Given the description of an element on the screen output the (x, y) to click on. 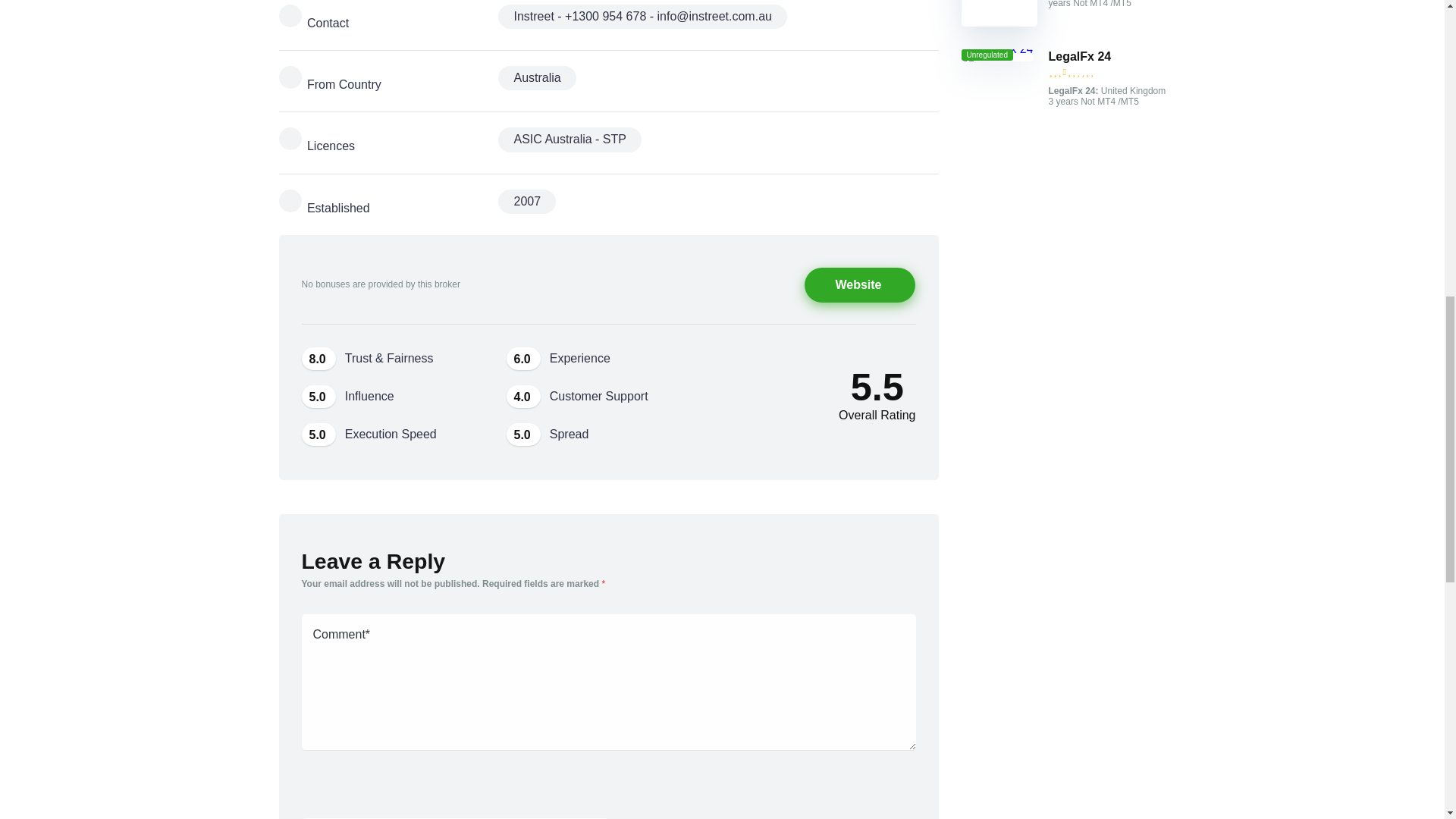
Website (860, 284)
ASIC Australia - STP (569, 139)
2007 (526, 201)
